Given the description of an element on the screen output the (x, y) to click on. 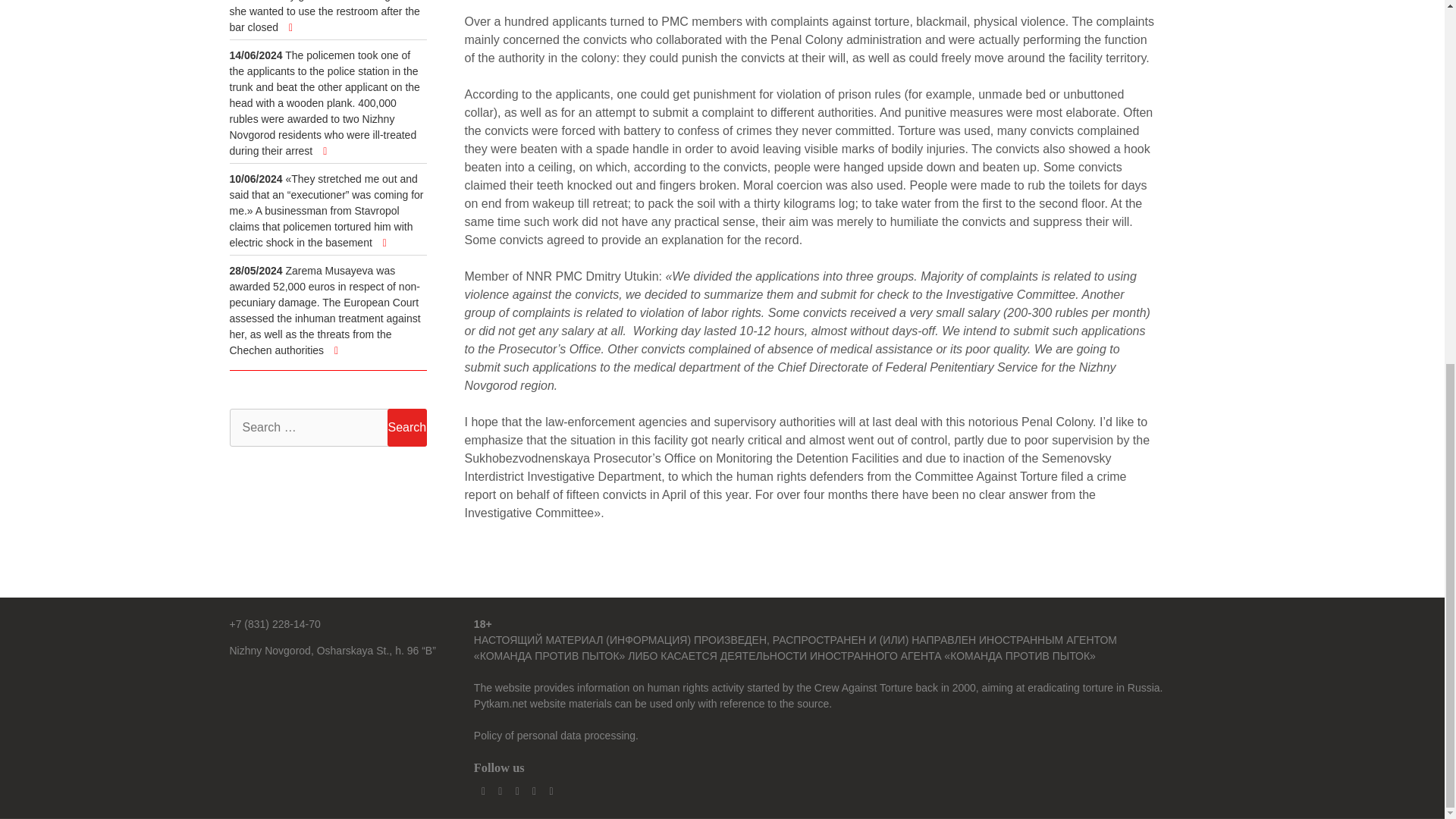
Pytkam.net (500, 703)
Search (406, 427)
Search (406, 427)
Search (406, 427)
data processing. (599, 735)
